Given the description of an element on the screen output the (x, y) to click on. 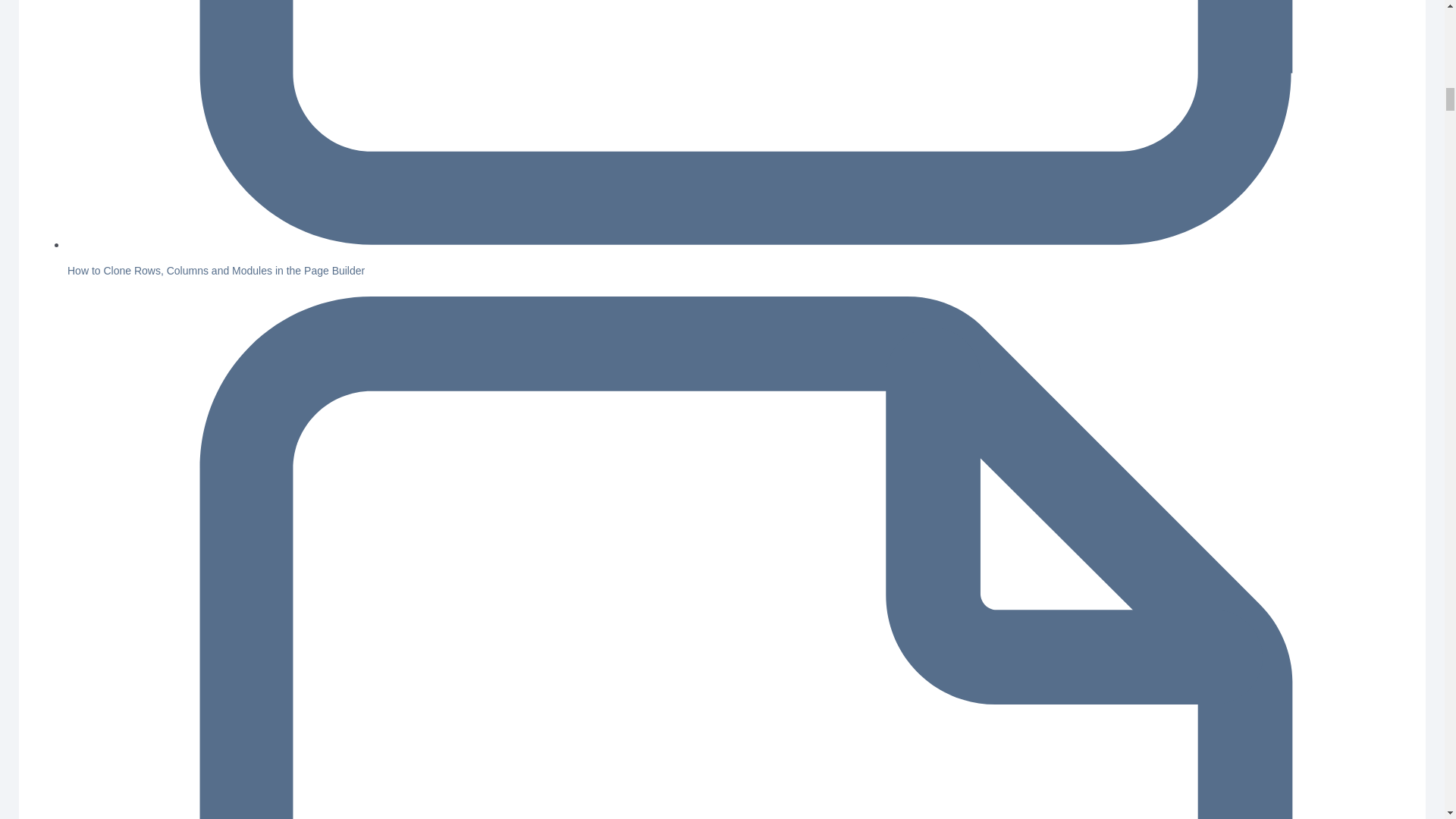
How to Clone Rows, Columns and Modules in the Page Builder (215, 270)
